Given the description of an element on the screen output the (x, y) to click on. 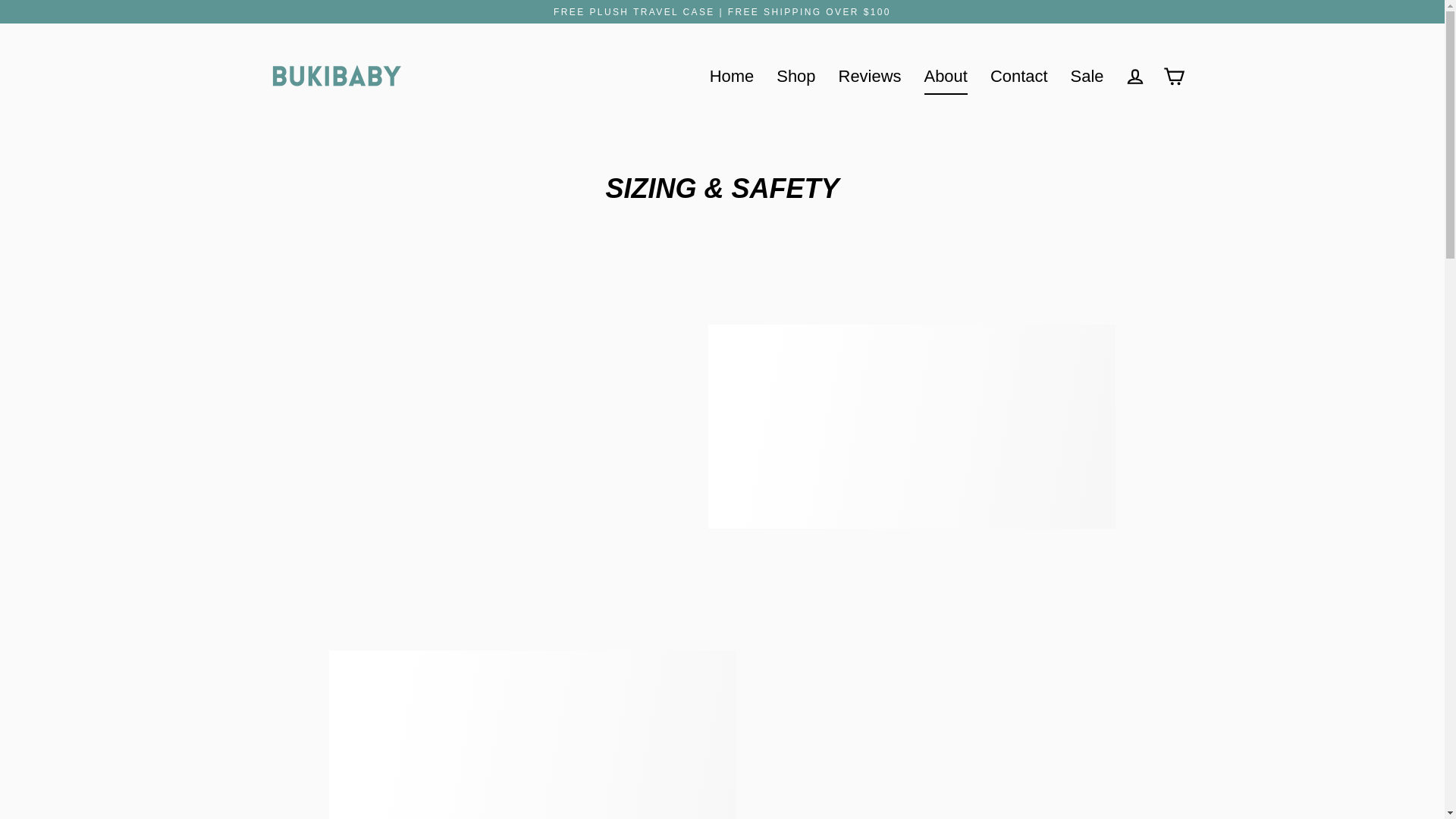
Home (731, 76)
Shop (796, 76)
Reviews (869, 76)
Sale (1087, 76)
Contact (1018, 76)
Log in (1134, 76)
Cart (1173, 76)
About (945, 76)
